Given the description of an element on the screen output the (x, y) to click on. 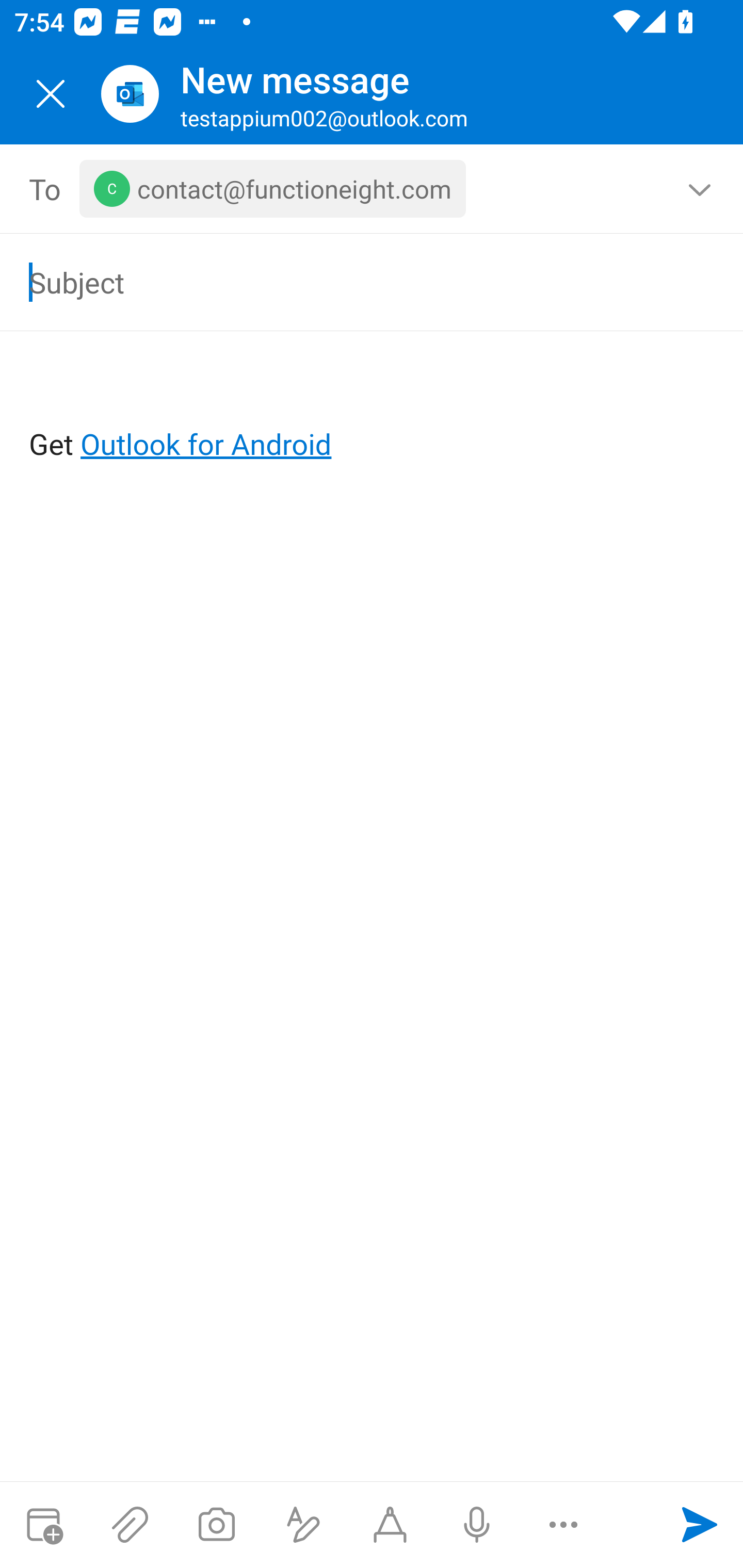
Close (50, 93)
Subject (342, 281)


Get Outlook for Android (372, 411)
Attach meeting (43, 1524)
Attach files (129, 1524)
Take a photo (216, 1524)
Show formatting options (303, 1524)
Start Ink compose (389, 1524)
Dictation (476, 1524)
More options (563, 1524)
Send (699, 1524)
